Given the description of an element on the screen output the (x, y) to click on. 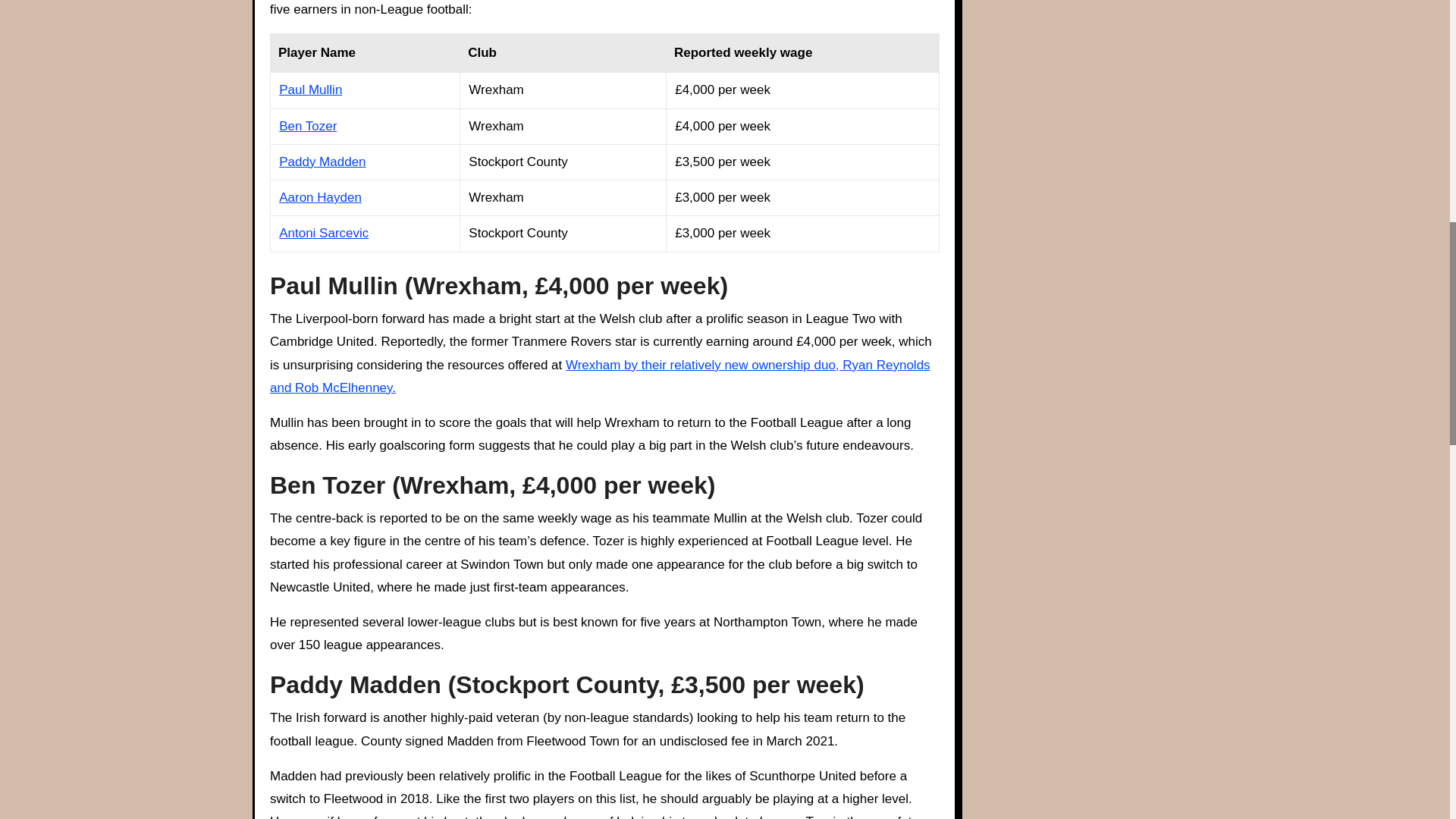
Paul Mullin (310, 89)
Paddy Madden (322, 161)
Aaron Hayden (320, 197)
Ben Tozer (307, 124)
Antoni Sarcevic (323, 233)
